Given the description of an element on the screen output the (x, y) to click on. 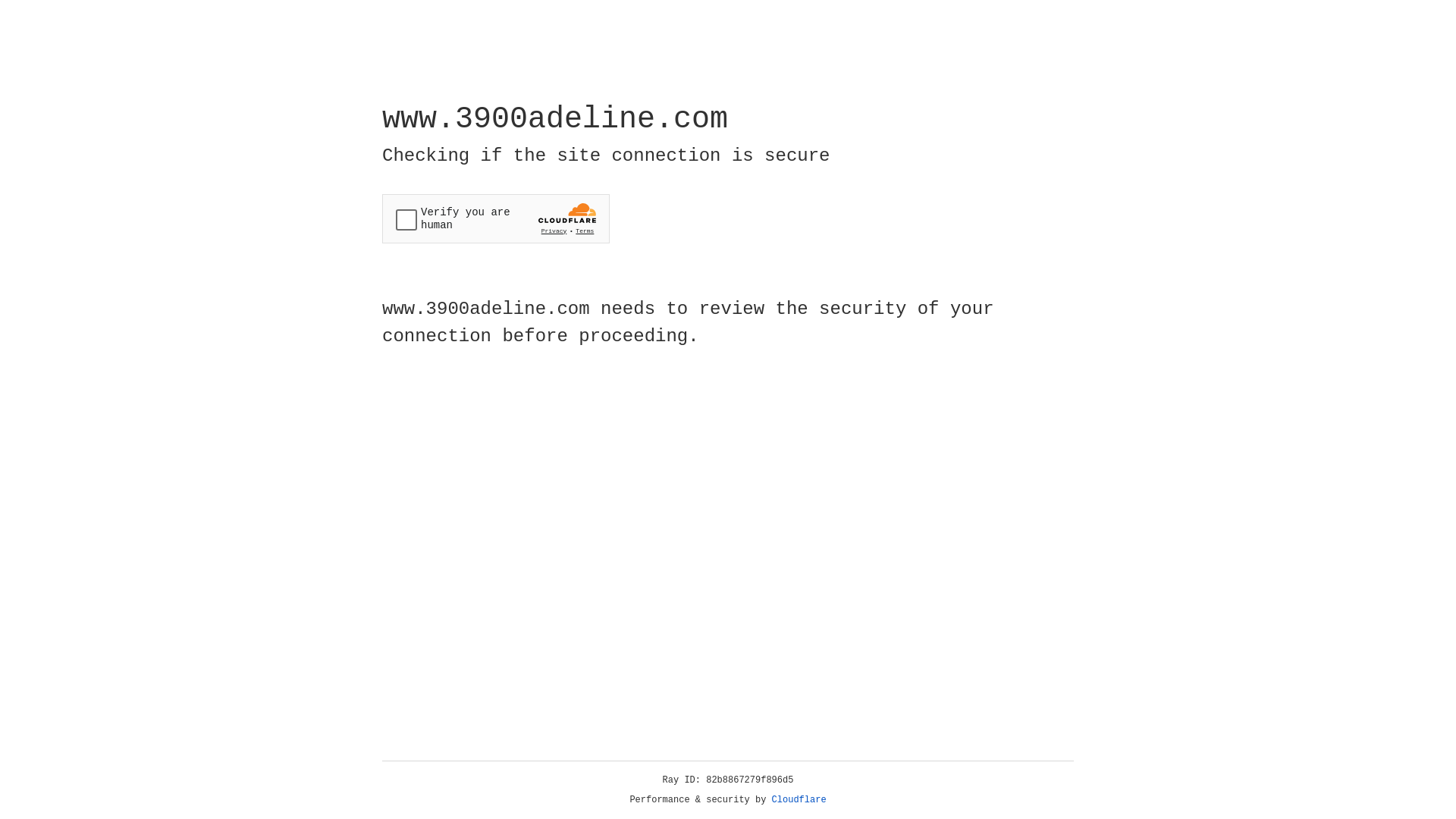
Cloudflare Element type: text (798, 799)
Widget containing a Cloudflare security challenge Element type: hover (495, 218)
